Given the description of an element on the screen output the (x, y) to click on. 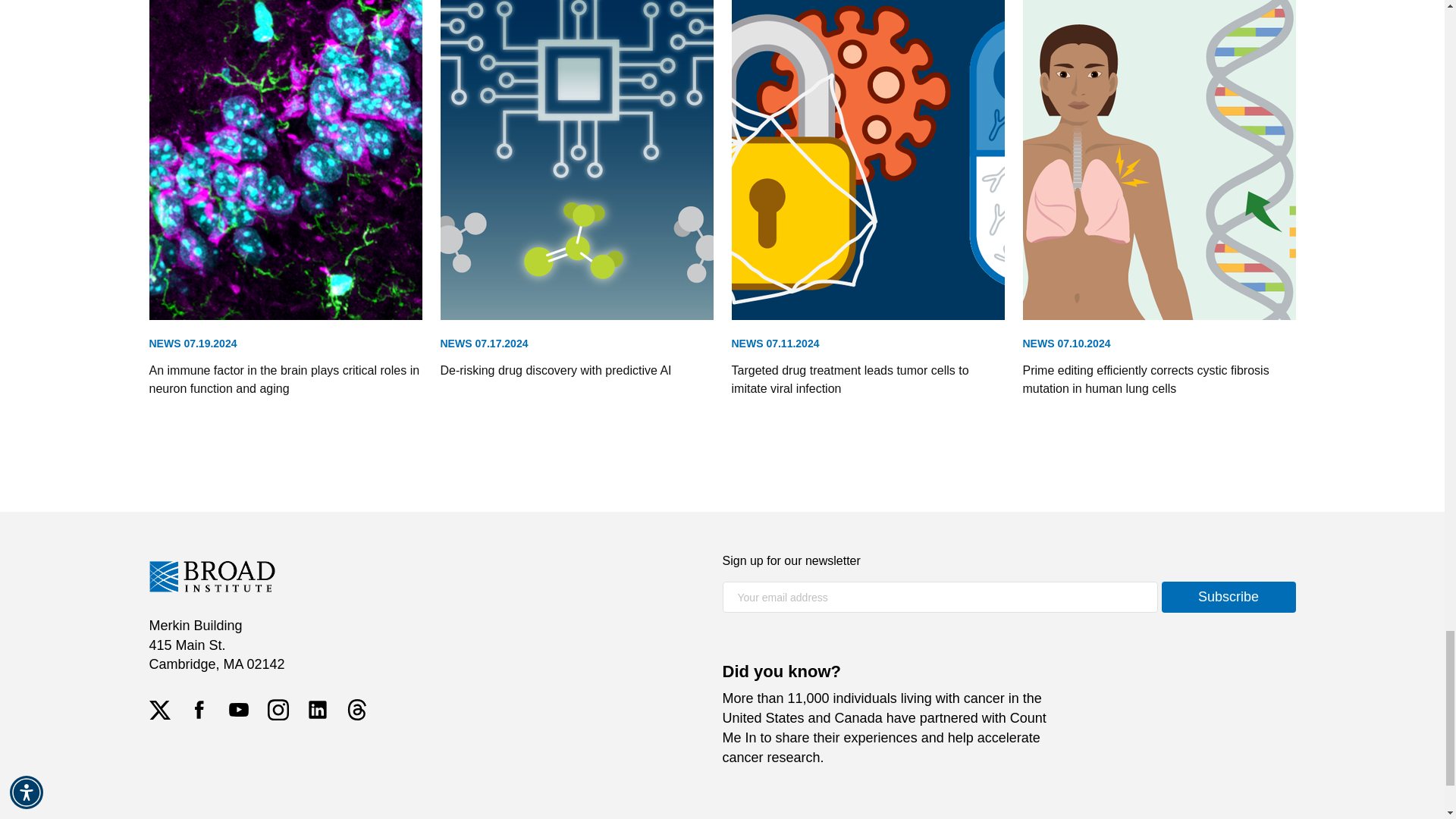
Subscribe (1228, 596)
